Given the description of an element on the screen output the (x, y) to click on. 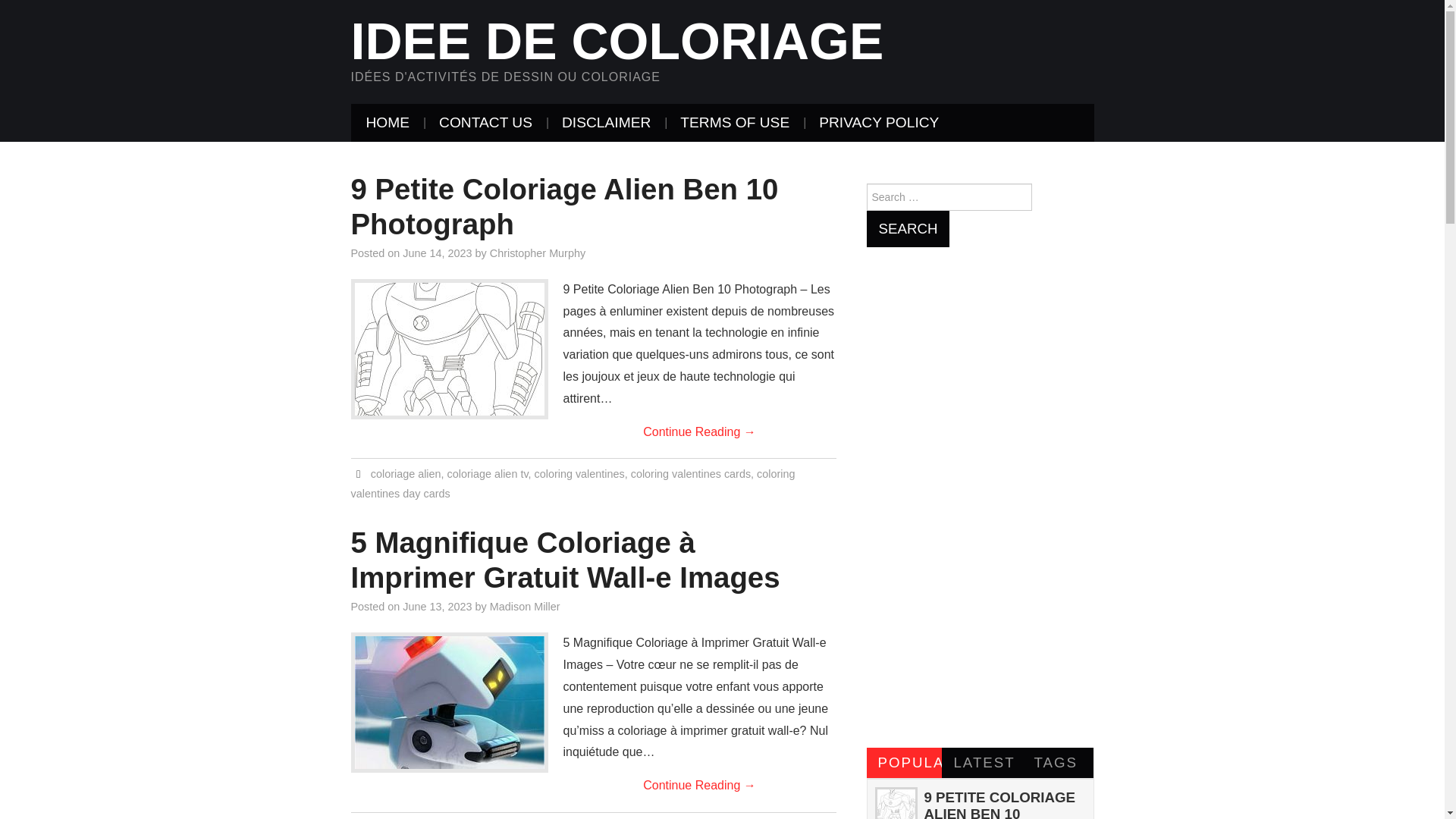
HOME (387, 122)
coloring valentines (579, 473)
6:11 pm (437, 606)
Madison Miller (524, 606)
2:11 am (437, 253)
Search (907, 228)
TERMS OF USE (735, 122)
Idee de Coloriage (616, 40)
coloriage alien tv (487, 473)
Christopher Murphy (537, 253)
